Given the description of an element on the screen output the (x, y) to click on. 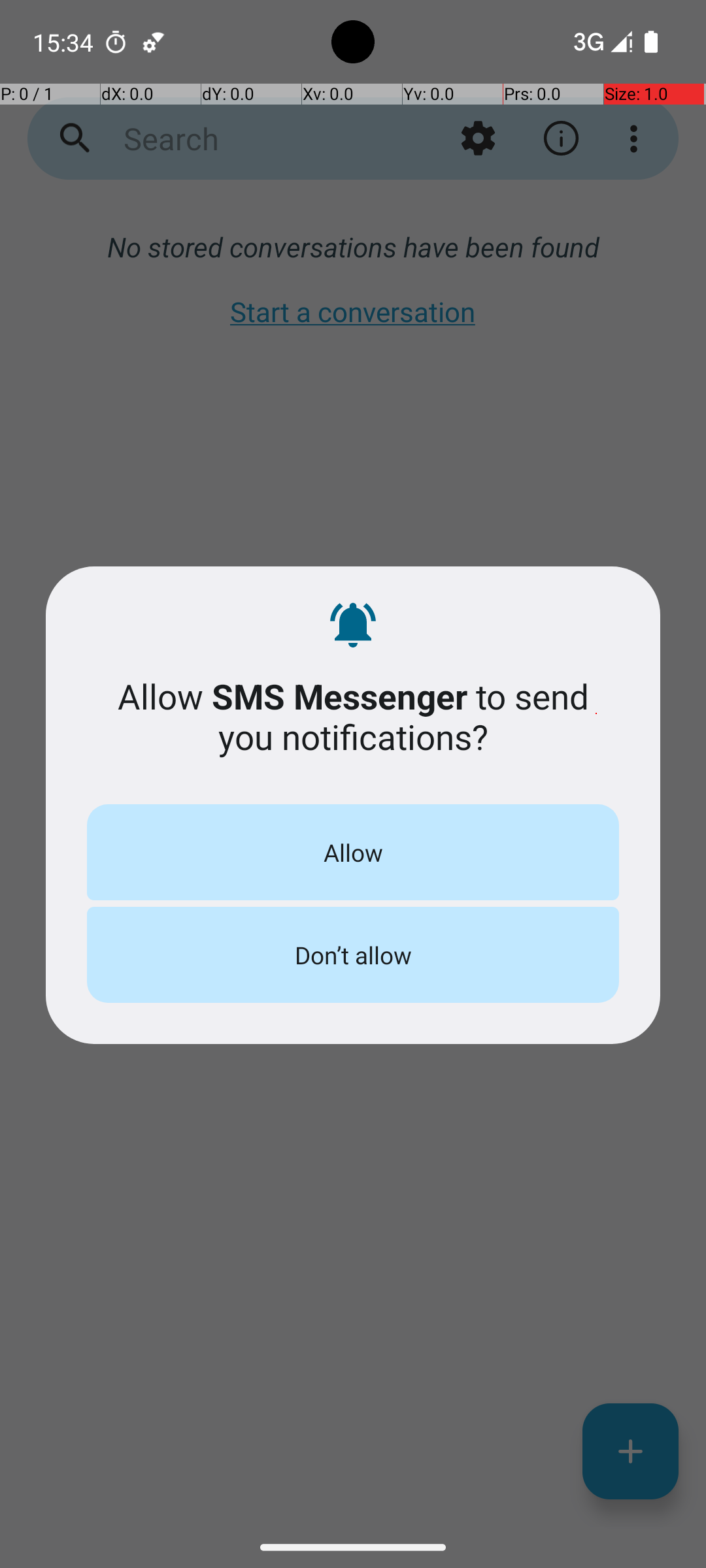
Allow SMS Messenger to send you notifications? Element type: android.widget.TextView (352, 715)
